Given the description of an element on the screen output the (x, y) to click on. 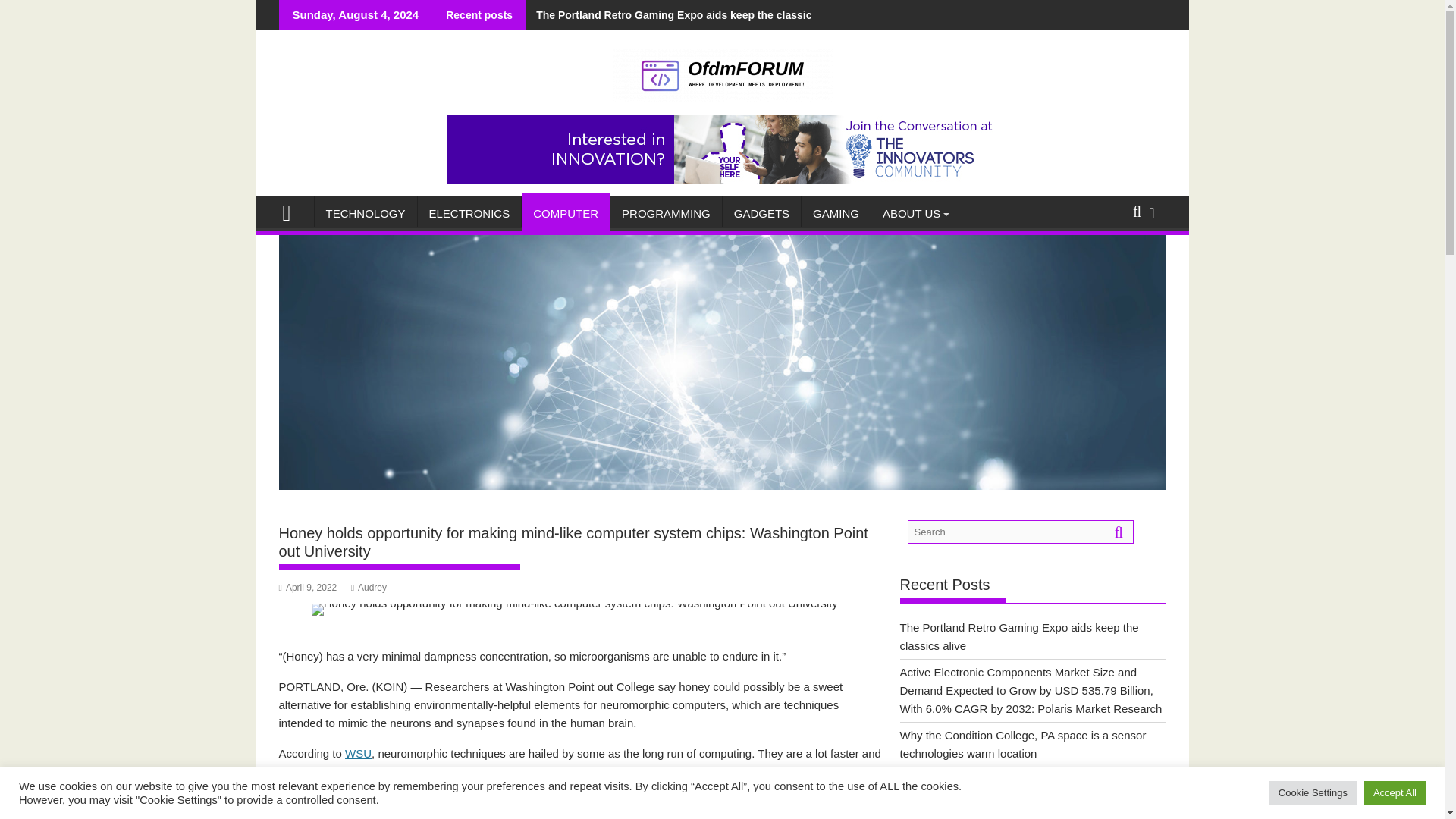
ABOUT US (911, 213)
April 9, 2022 (308, 587)
ELECTRONICS (469, 213)
COMPUTER (565, 213)
TECHNOLOGY (365, 213)
WSU (358, 753)
The Portland Retro Gaming Expo aids keep the classics alive (684, 15)
OfdmFORUM (293, 210)
GAMING (836, 213)
